Given the description of an element on the screen output the (x, y) to click on. 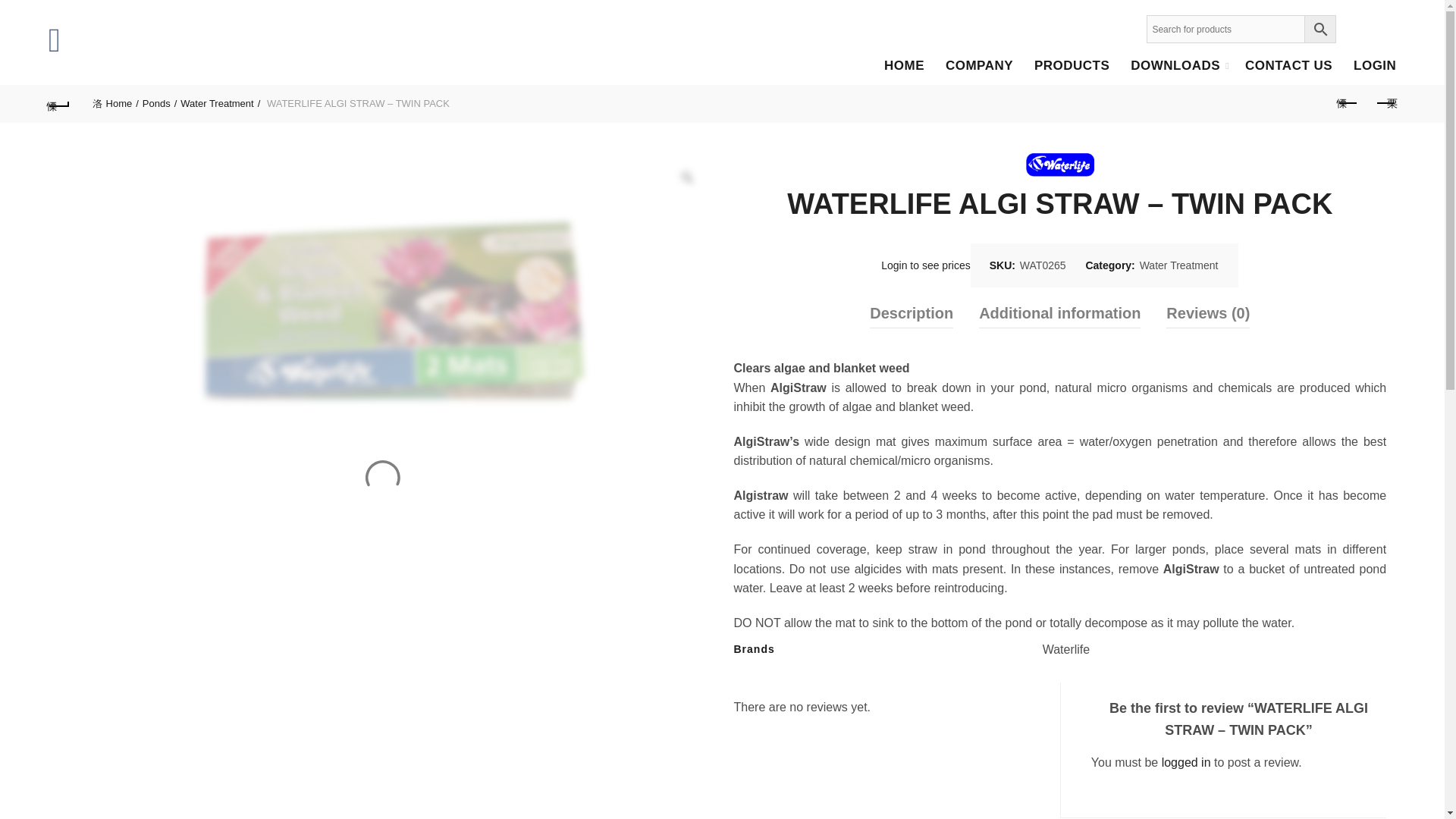
Home (115, 102)
CONTACT US (1288, 65)
COMPANY (979, 65)
Back (59, 103)
Ponds (159, 102)
Waterlife (1060, 164)
HOME (904, 65)
Previous product (1347, 103)
PRODUCTS (1072, 65)
